Given the description of an element on the screen output the (x, y) to click on. 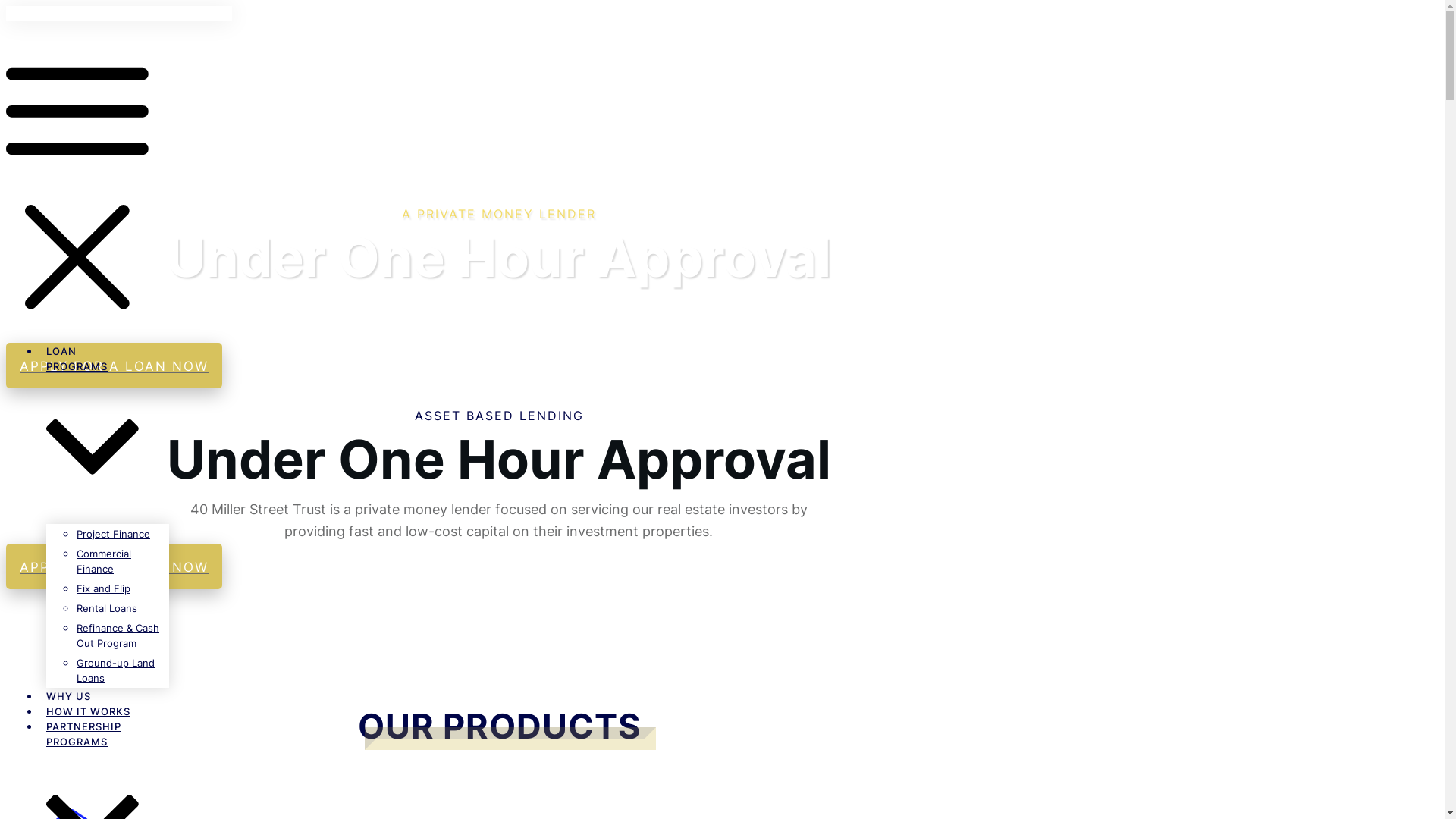
APPLY FOR A LOAN NOW Element type: text (114, 365)
HOW IT WORKS Element type: text (88, 711)
Refinance & Cash Out Program Element type: text (117, 635)
LOAN PROGRAMS Element type: text (92, 434)
Ground-up Land Loans Element type: text (115, 670)
WHY US Element type: text (68, 696)
Fix and Flip Element type: text (103, 588)
Project Finance Element type: text (113, 533)
Commercial Finance Element type: text (103, 560)
Rental Loans Element type: text (106, 608)
APPLY FOR A LOAN NOW Element type: text (114, 566)
